Given the description of an element on the screen output the (x, y) to click on. 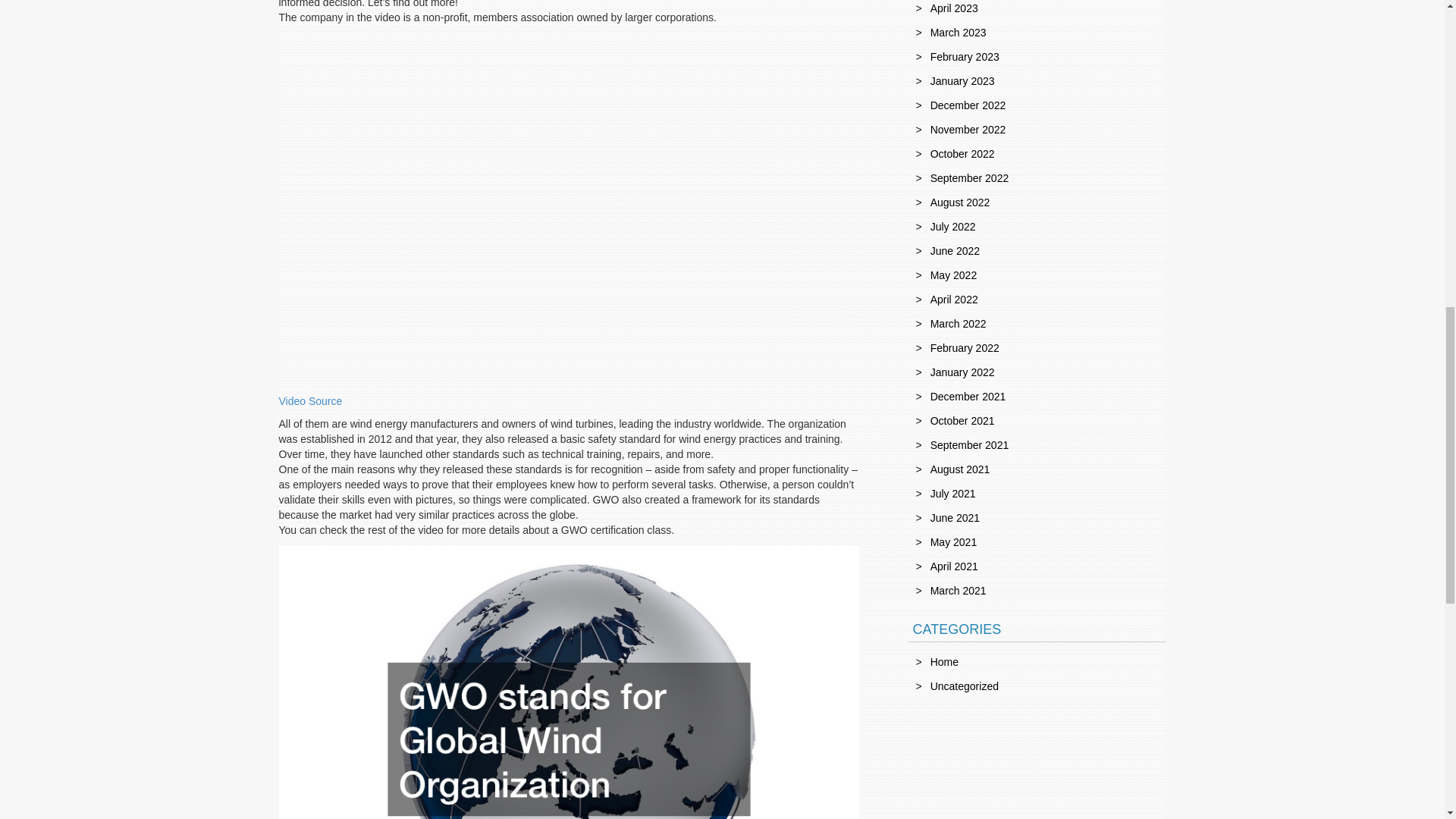
April 2023 (954, 8)
January 2023 (962, 80)
February 2023 (964, 56)
Video Source (310, 400)
March 2023 (958, 32)
